Given the description of an element on the screen output the (x, y) to click on. 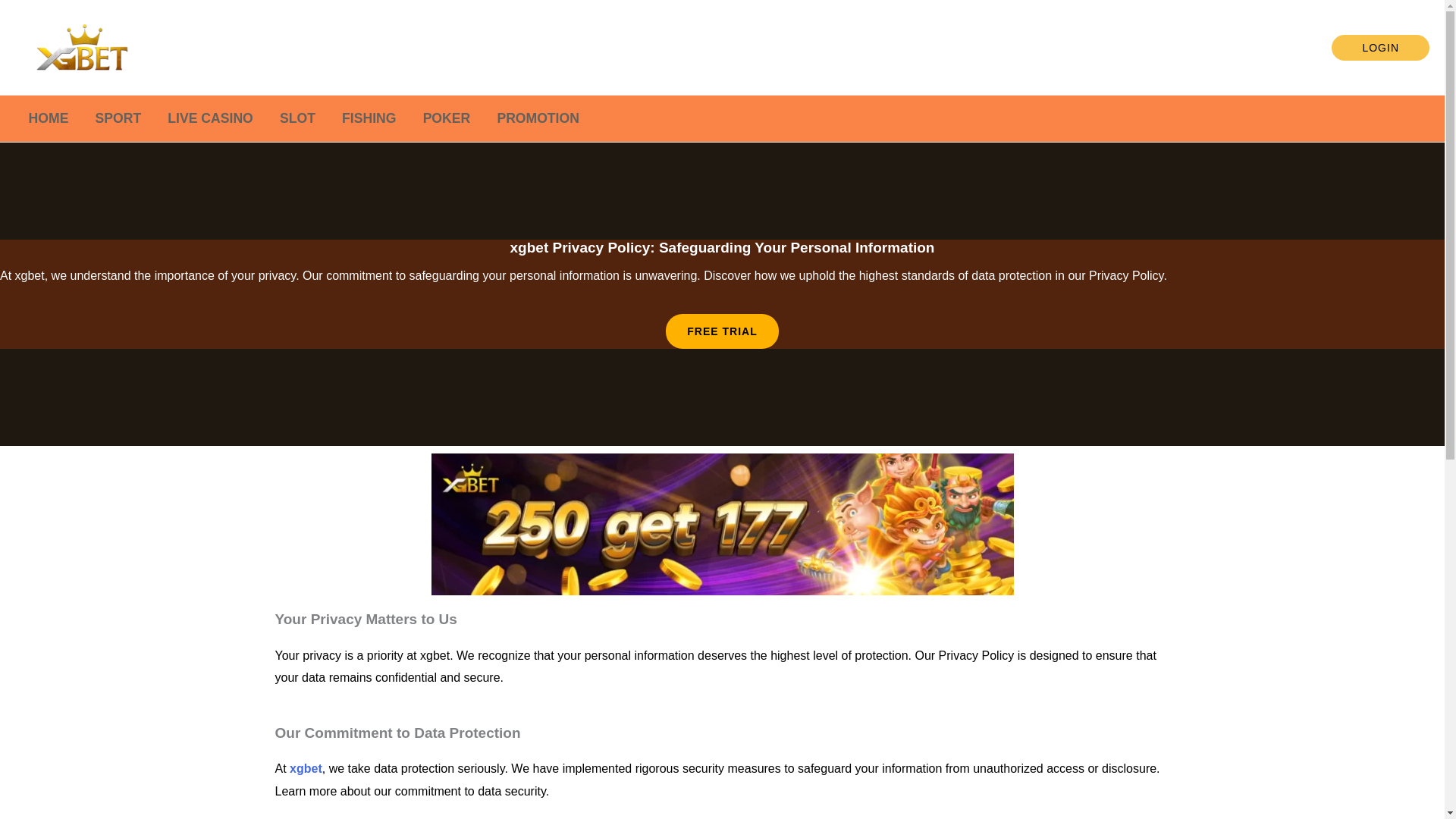
LOGIN (1380, 47)
FREE TRIAL (721, 330)
REGISTER (1288, 47)
PROMOTION (537, 117)
HOME (47, 117)
LIVE CASINO (210, 117)
xgbet (305, 768)
SPORT (117, 117)
SLOT (297, 117)
FISHING (369, 117)
